Given the description of an element on the screen output the (x, y) to click on. 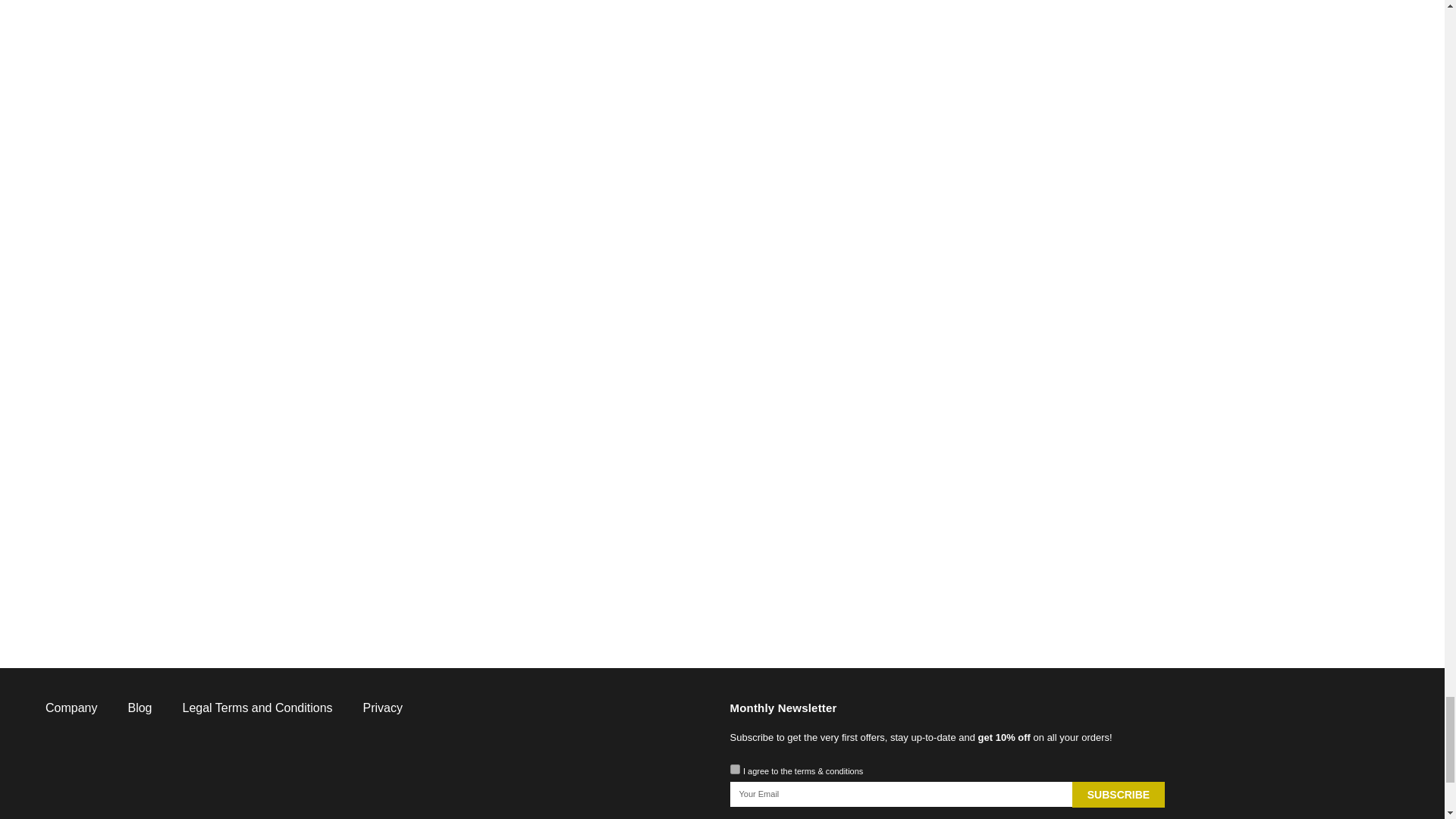
on (734, 768)
